Given the description of an element on the screen output the (x, y) to click on. 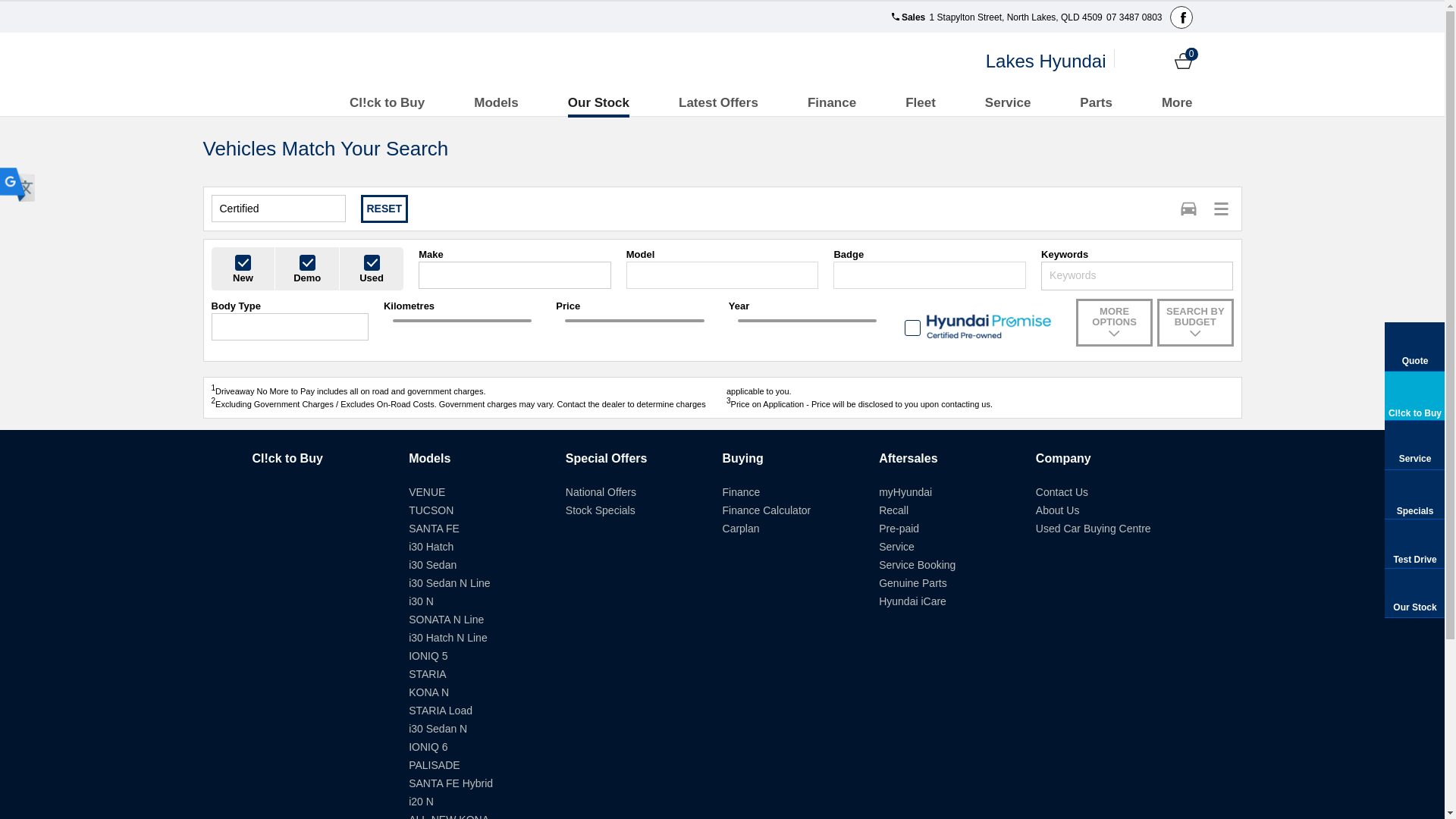
Login Element type: text (1131, 60)
Special Offers Element type: text (606, 457)
SANTA FE Hybrid Element type: text (450, 783)
SEARCH BY BUDGET Element type: text (1195, 322)
Contact Us Element type: text (1061, 492)
About Us Element type: text (1057, 510)
Cl!ck to Buy Element type: text (286, 457)
Company Element type: text (1063, 457)
Recall Element type: text (893, 510)
Models Element type: text (495, 102)
Finance Calculator Element type: text (766, 510)
i30 Sedan N Element type: text (437, 728)
SONATA N Line Element type: text (445, 619)
Facebook Element type: hover (1180, 17)
Carplan Element type: text (740, 528)
Service Element type: text (1008, 102)
Stock Specials Element type: text (600, 510)
Cart
0 Element type: text (1182, 61)
Cl!ck to Buy Element type: text (386, 102)
STARIA Element type: text (427, 674)
Parts Element type: text (1095, 102)
i30 Hatch Element type: text (430, 546)
Models Element type: text (429, 457)
Latest Offers Element type: text (718, 102)
PALISADE Element type: text (433, 765)
Signup Element type: text (1157, 60)
Hyundai iCare Element type: text (912, 601)
MORE OPTIONS Element type: text (1113, 322)
STARIA Load Element type: text (440, 710)
KONA N Element type: text (428, 692)
Hyundai Motor Company Element type: text (313, 60)
i20 N Element type: text (420, 801)
VENUE Element type: text (426, 492)
National Offers Element type: text (600, 492)
IONIQ 5 Element type: text (427, 655)
07 3487 0803 Element type: text (1132, 17)
i30 Sedan Element type: text (432, 564)
Service Element type: text (896, 546)
Finance Element type: text (741, 492)
myHyundai Element type: text (904, 492)
Fleet Element type: text (920, 102)
More Element type: text (1176, 102)
Buying Element type: text (742, 457)
Service Booking Element type: text (916, 564)
RESET Element type: text (384, 208)
Our Stock Element type: text (598, 102)
i30 N Element type: text (420, 601)
IONIQ 6 Element type: text (427, 746)
Aftersales Element type: text (907, 457)
i30 Sedan N Line Element type: text (448, 583)
SANTA FE Element type: text (433, 528)
Pre-paid Element type: text (898, 528)
TUCSON Element type: text (430, 510)
Finance Element type: text (831, 102)
1 Stapylton Street, North Lakes, QLD 4509 Element type: text (1015, 17)
Genuine Parts Element type: text (912, 583)
Used Car Buying Centre Element type: text (1093, 528)
i30 Hatch N Line Element type: text (447, 637)
